Given the description of an element on the screen output the (x, y) to click on. 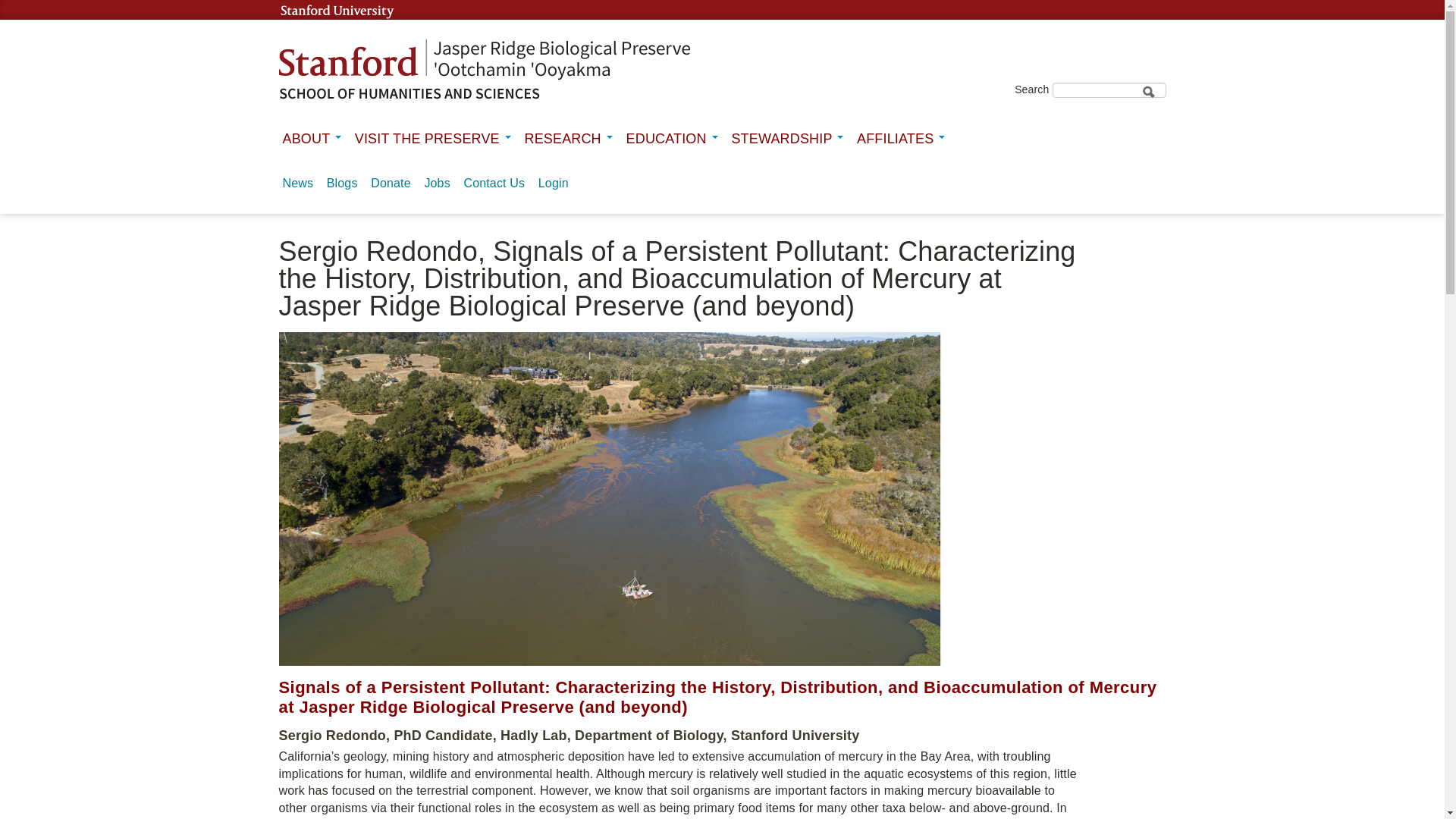
RESEARCH (567, 138)
EDUCATION (671, 138)
Affiliate section menu (900, 138)
VISIT THE PRESERVE (433, 138)
STEWARDSHIP (786, 138)
ABOUT (311, 138)
Home page (486, 69)
